Given the description of an element on the screen output the (x, y) to click on. 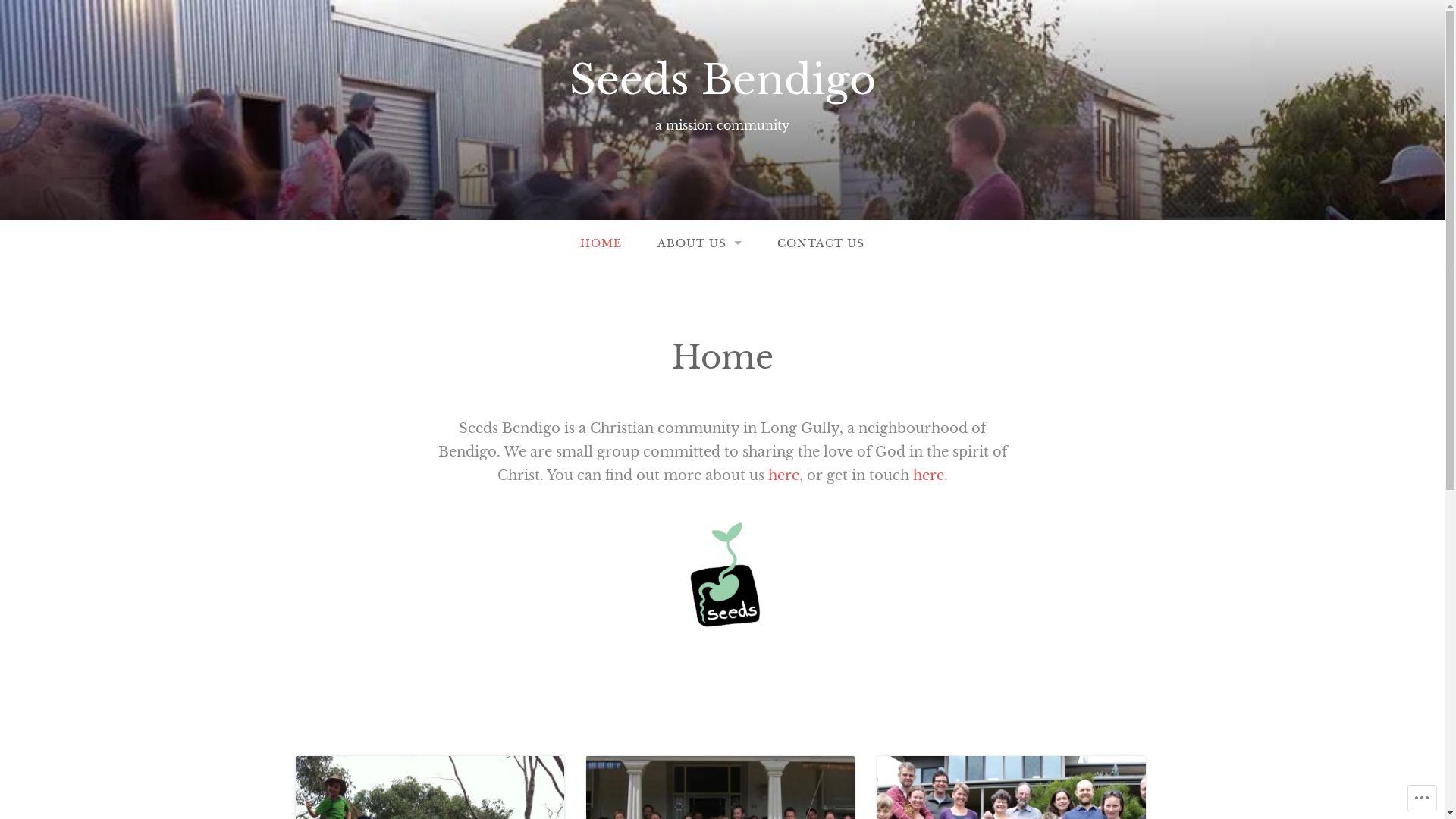
here Element type: text (782, 475)
HOME Element type: text (600, 243)
Seeds Bendigo Element type: text (721, 79)
ABOUT US Element type: text (699, 243)
here Element type: text (928, 475)
CONTACT US Element type: text (820, 243)
